Given the description of an element on the screen output the (x, y) to click on. 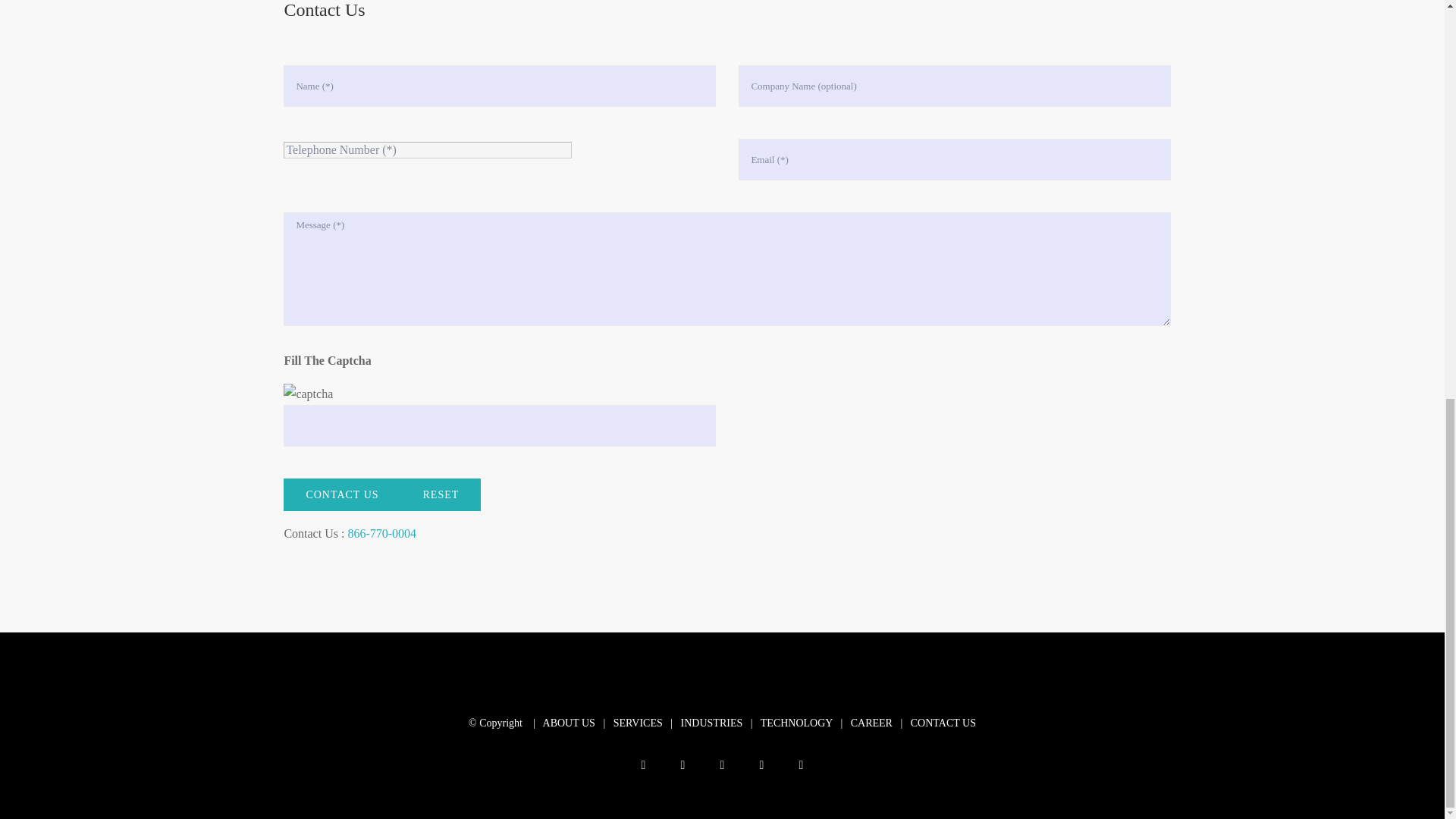
LinkedIn (761, 765)
Contact us (341, 494)
Facebook (643, 765)
Instagram (722, 765)
YouTube (801, 765)
Twitter (682, 765)
Reset (441, 494)
